Given the description of an element on the screen output the (x, y) to click on. 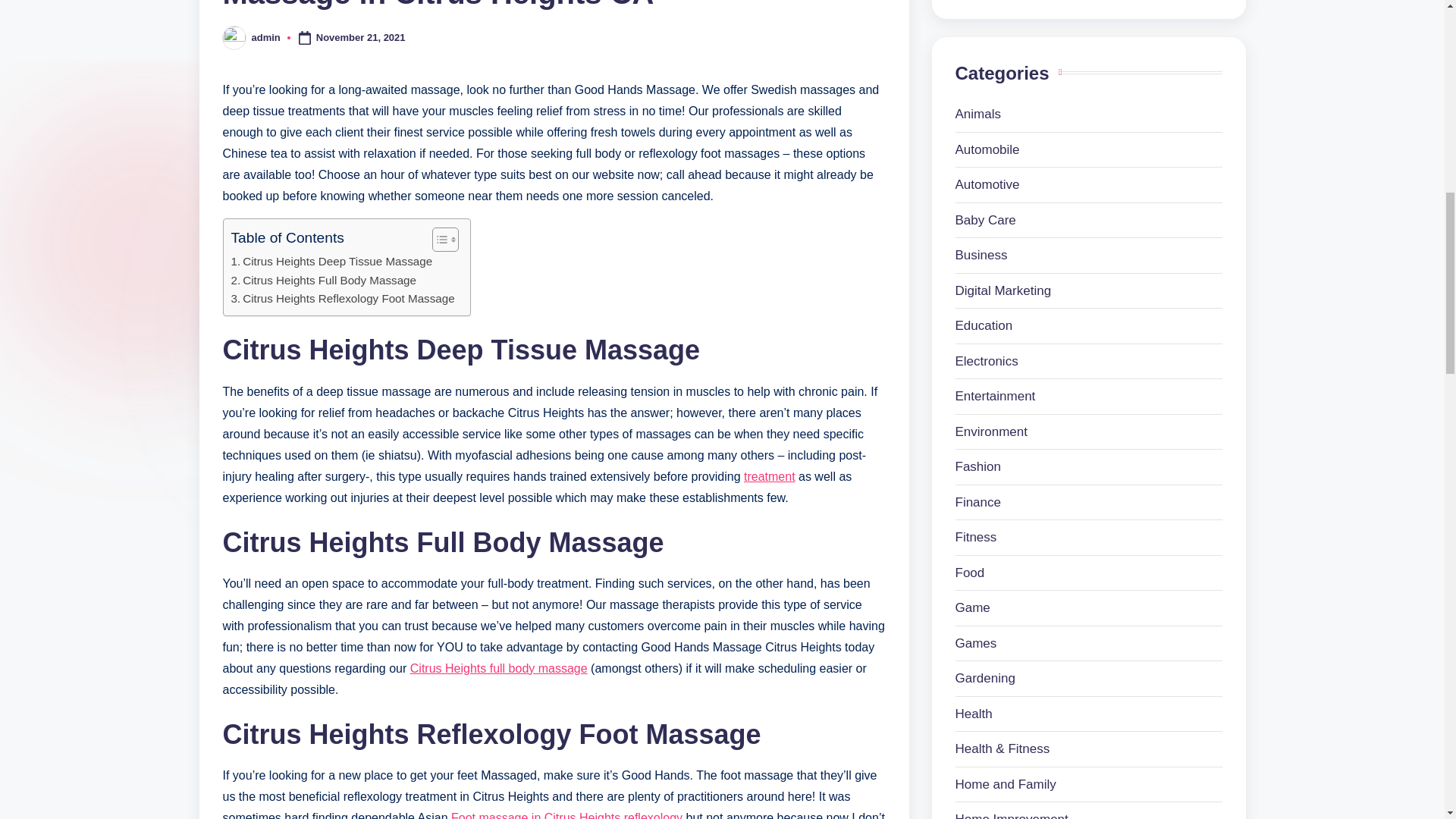
View all posts by admin (266, 37)
Citrus Heights Reflexology Foot Massage (342, 298)
Citrus Heights Full Body Massage (322, 280)
Citrus Heights Deep Tissue Massage (331, 261)
